Given the description of an element on the screen output the (x, y) to click on. 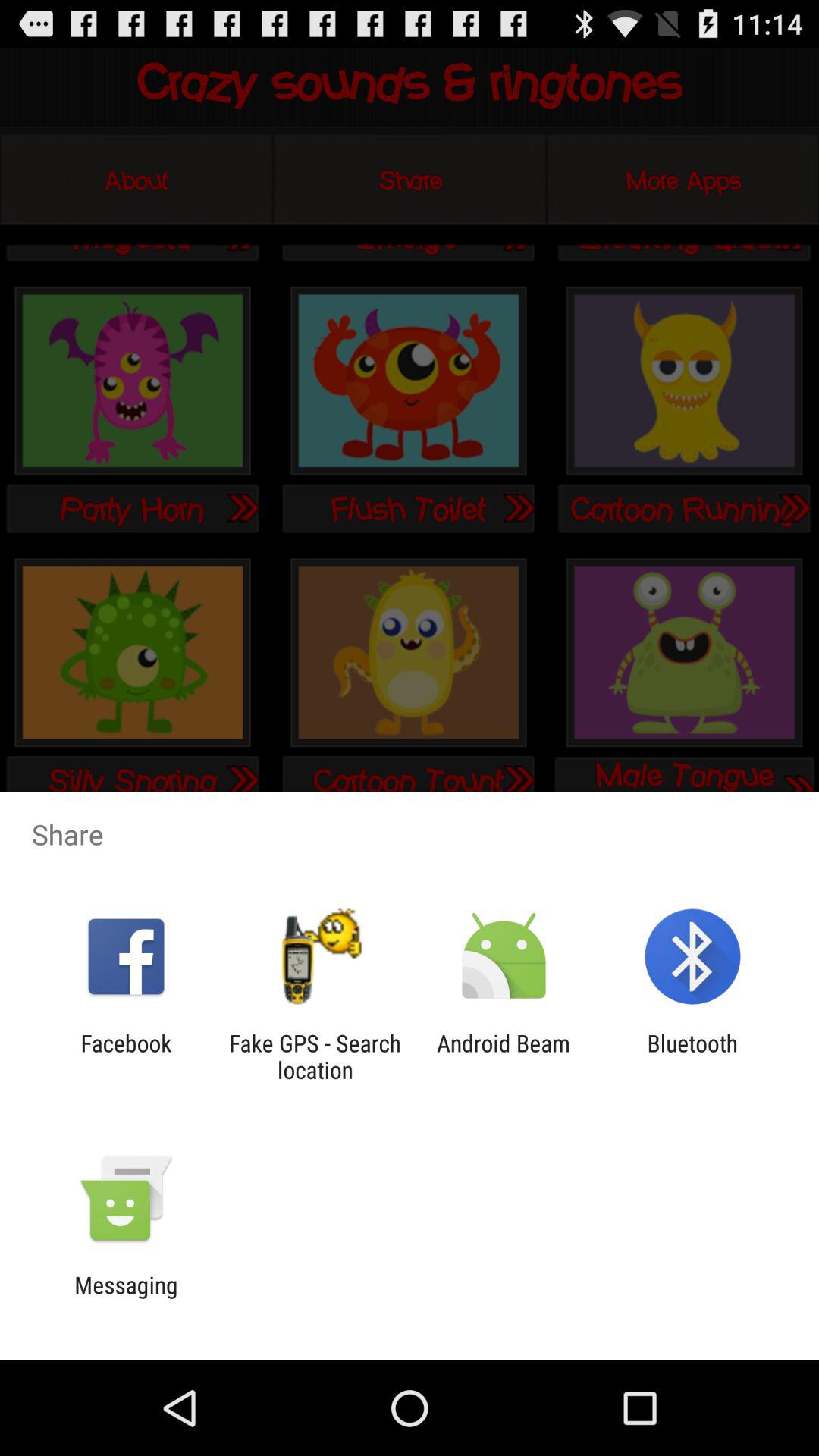
press item to the left of bluetooth app (503, 1056)
